Given the description of an element on the screen output the (x, y) to click on. 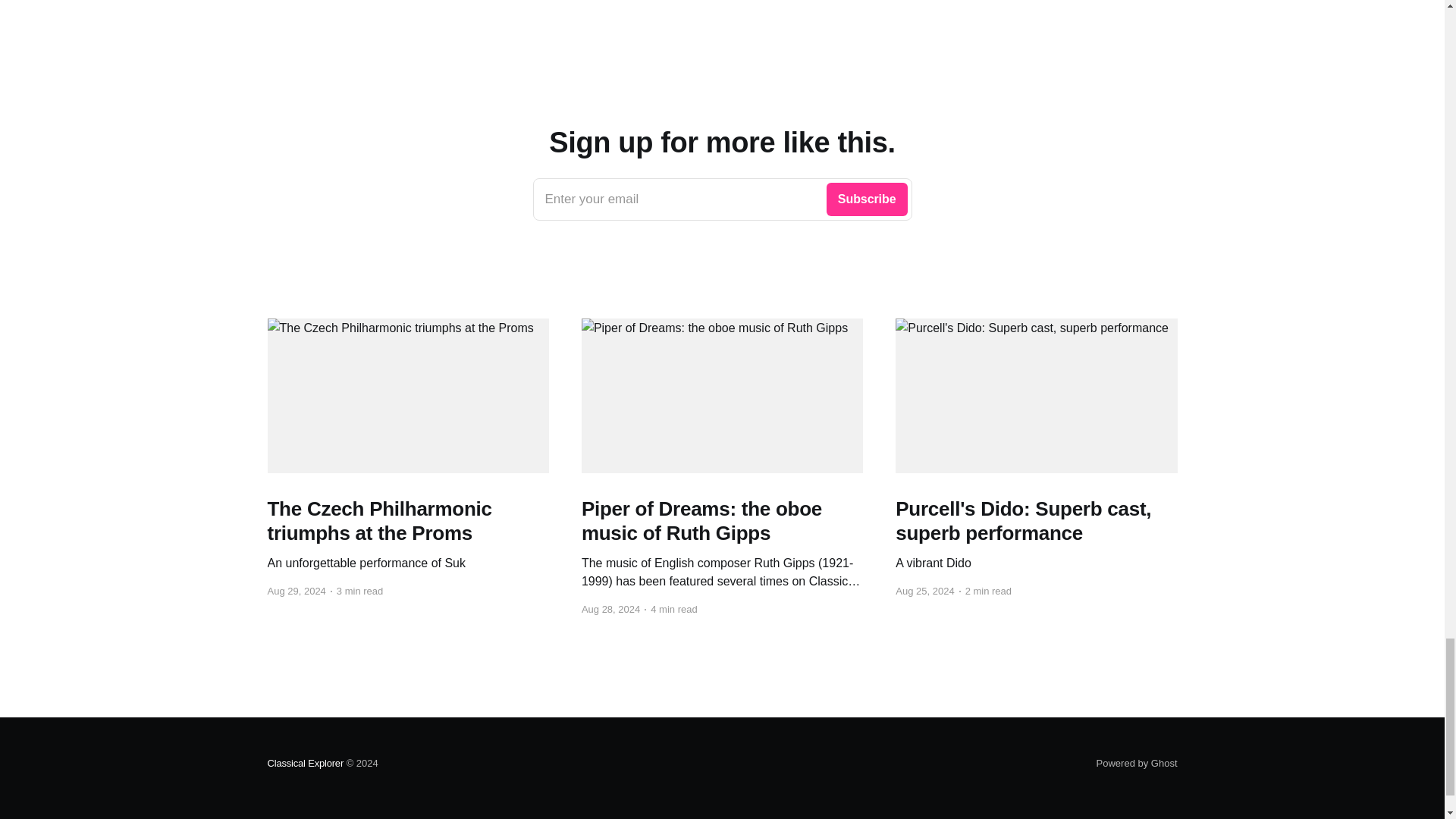
Spotify Embed: Where All Roses Go (721, 30)
Classical Explorer (721, 199)
Powered by Ghost (304, 763)
